Given the description of an element on the screen output the (x, y) to click on. 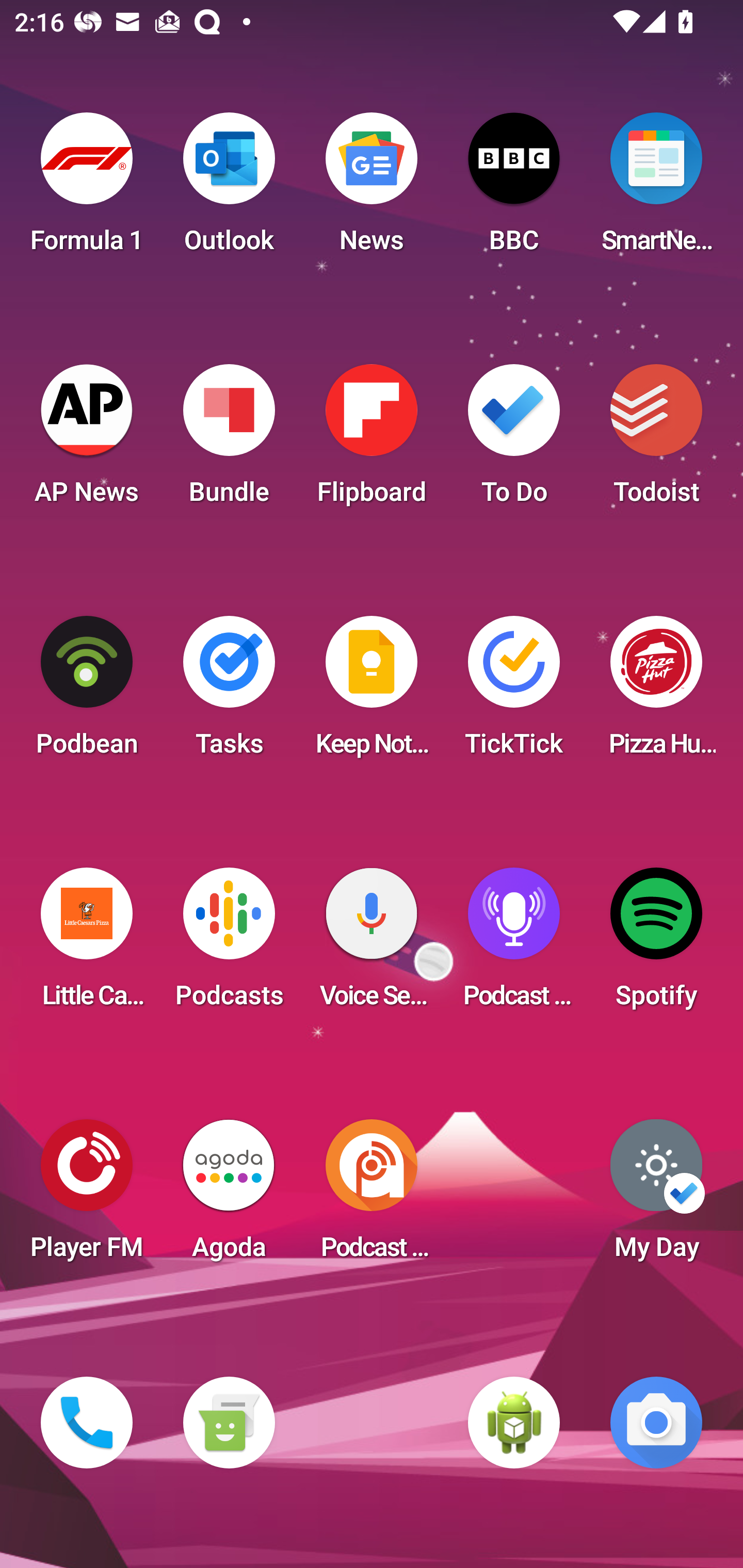
Formula 1 (86, 188)
Outlook (228, 188)
News (371, 188)
BBC (513, 188)
SmartNews (656, 188)
AP News (86, 440)
Bundle (228, 440)
Flipboard (371, 440)
To Do (513, 440)
Todoist (656, 440)
Podbean (86, 692)
Tasks (228, 692)
Keep Notes (371, 692)
TickTick (513, 692)
Pizza Hut HK & Macau (656, 692)
Little Caesars Pizza (86, 943)
Podcasts (228, 943)
Voice Search (371, 943)
Podcast Player (513, 943)
Spotify (656, 943)
Player FM (86, 1195)
Agoda (228, 1195)
Podcast Addict (371, 1195)
My Day (656, 1195)
Phone (86, 1422)
Messaging (228, 1422)
WebView Browser Tester (513, 1422)
Camera (656, 1422)
